Given the description of an element on the screen output the (x, y) to click on. 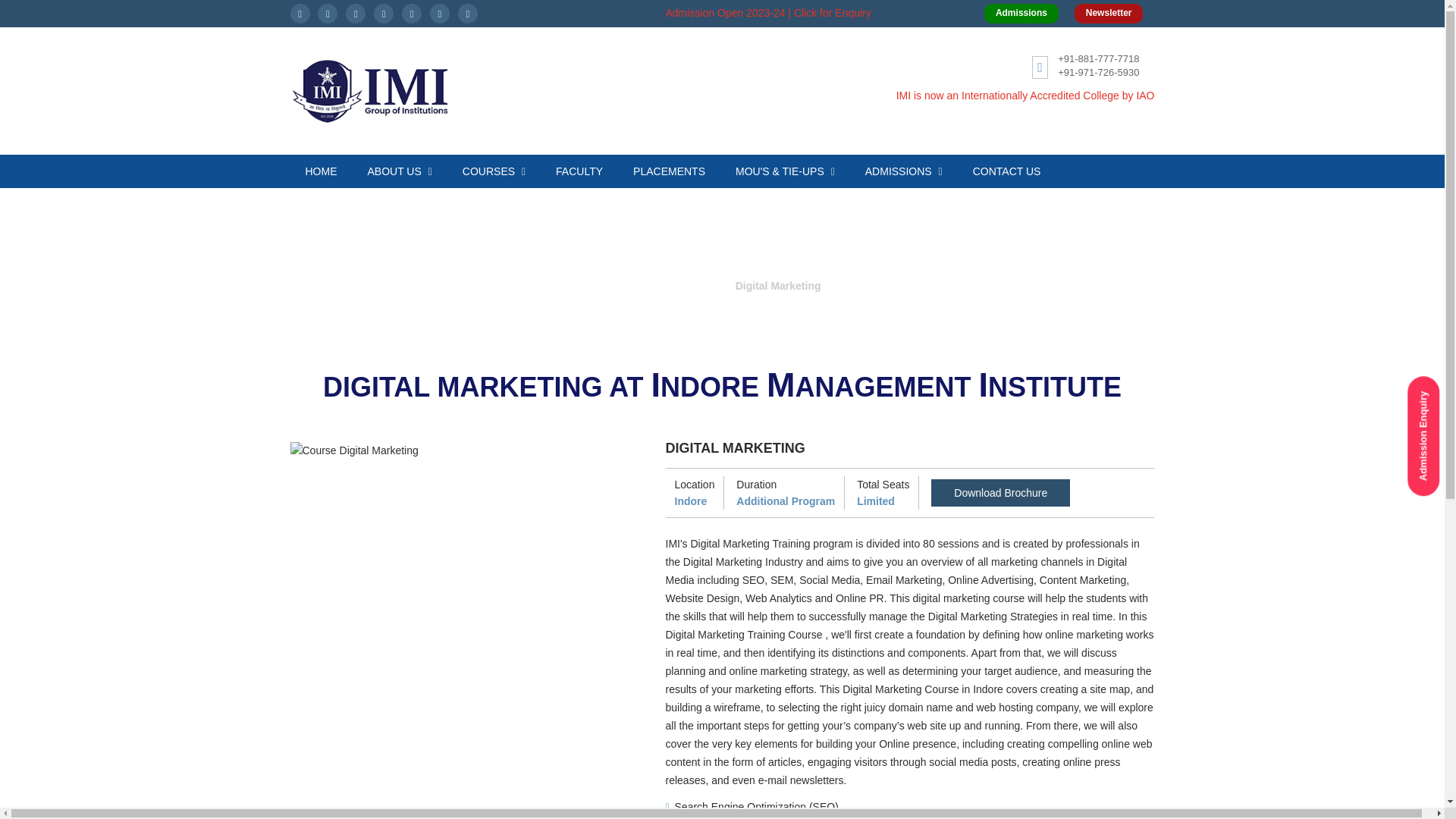
COURSES (493, 171)
Newsletter (1108, 13)
ABOUT US (399, 171)
IMI is now an Internationally Accredited College by IAO (1025, 95)
HOME (320, 171)
Admissions (1021, 13)
